Given the description of an element on the screen output the (x, y) to click on. 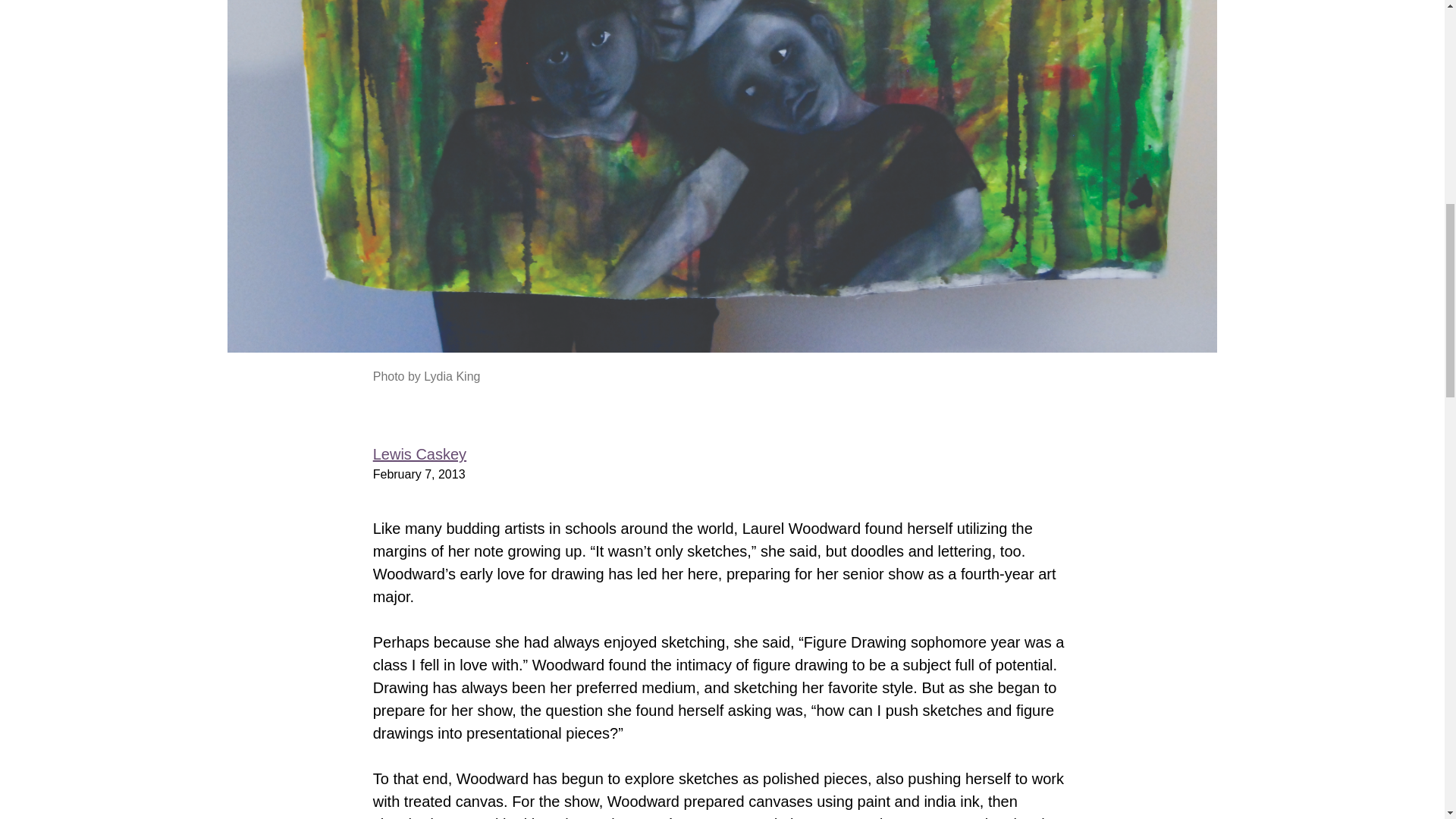
Lewis Caskey (418, 453)
